Given the description of an element on the screen output the (x, y) to click on. 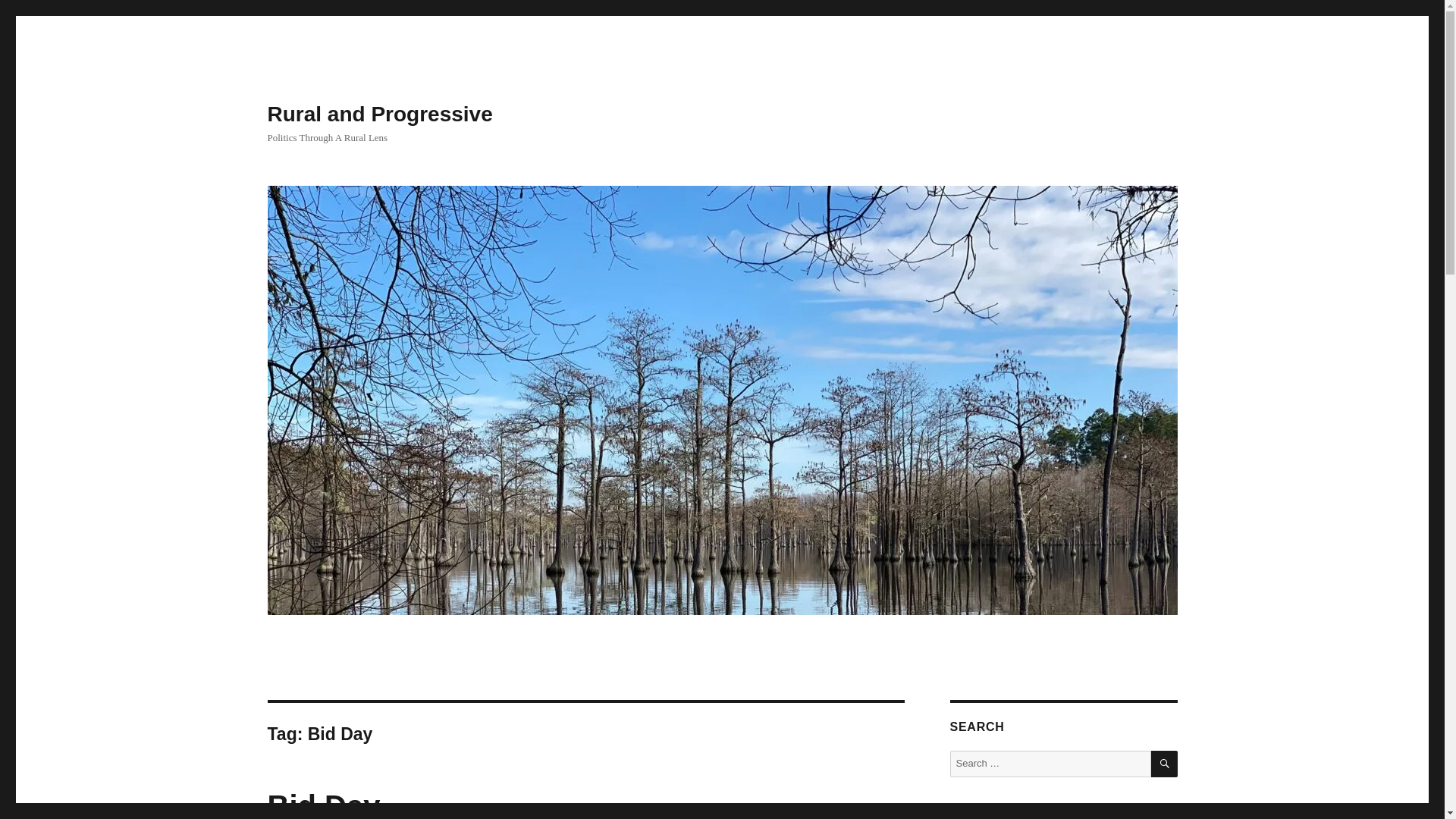
Bid Day (323, 804)
Rural and Progressive (379, 114)
SEARCH (1164, 764)
